Given the description of an element on the screen output the (x, y) to click on. 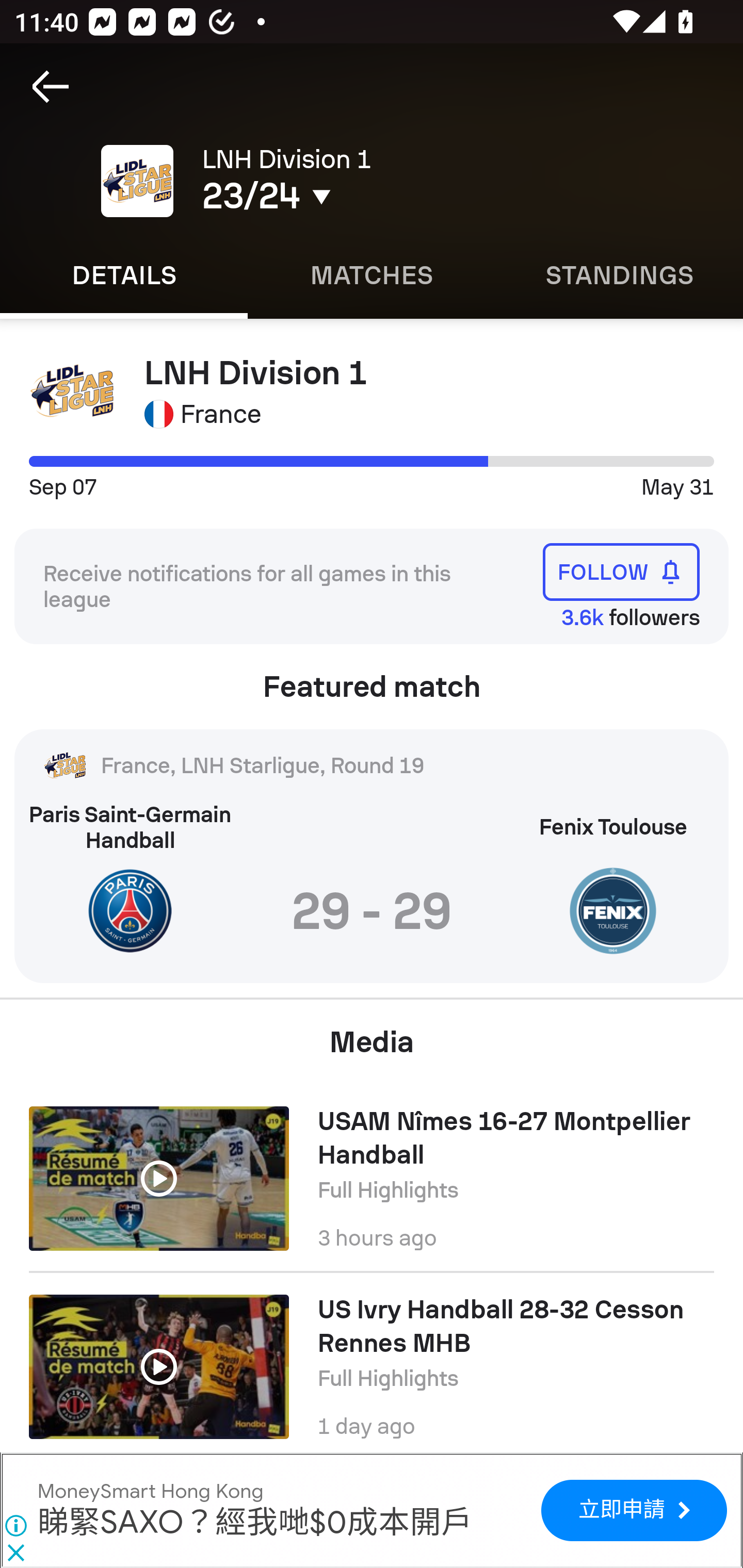
Navigate up (50, 86)
23/24 (350, 195)
Matches MATCHES (371, 275)
Standings STANDINGS (619, 275)
FOLLOW (621, 571)
MoneySmart Hong Kong (150, 1491)
立即申請 (634, 1509)
睇緊SAXO？經我哋$0成本開戶 (255, 1522)
